Given the description of an element on the screen output the (x, y) to click on. 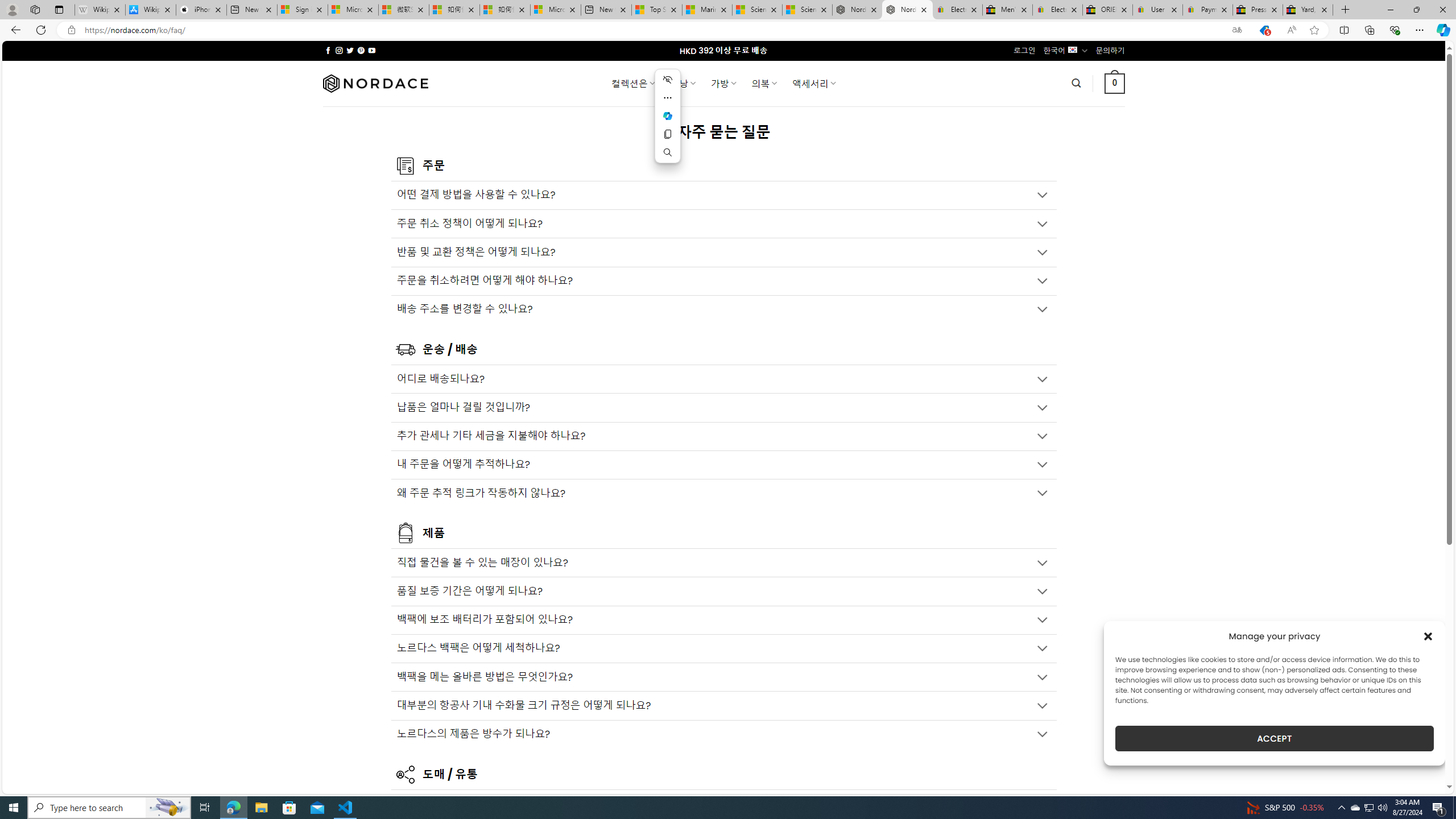
Follow on Pinterest (360, 50)
Hide menu (667, 79)
This site has coupons! Shopping in Microsoft Edge, 5 (1263, 29)
